Given the description of an element on the screen output the (x, y) to click on. 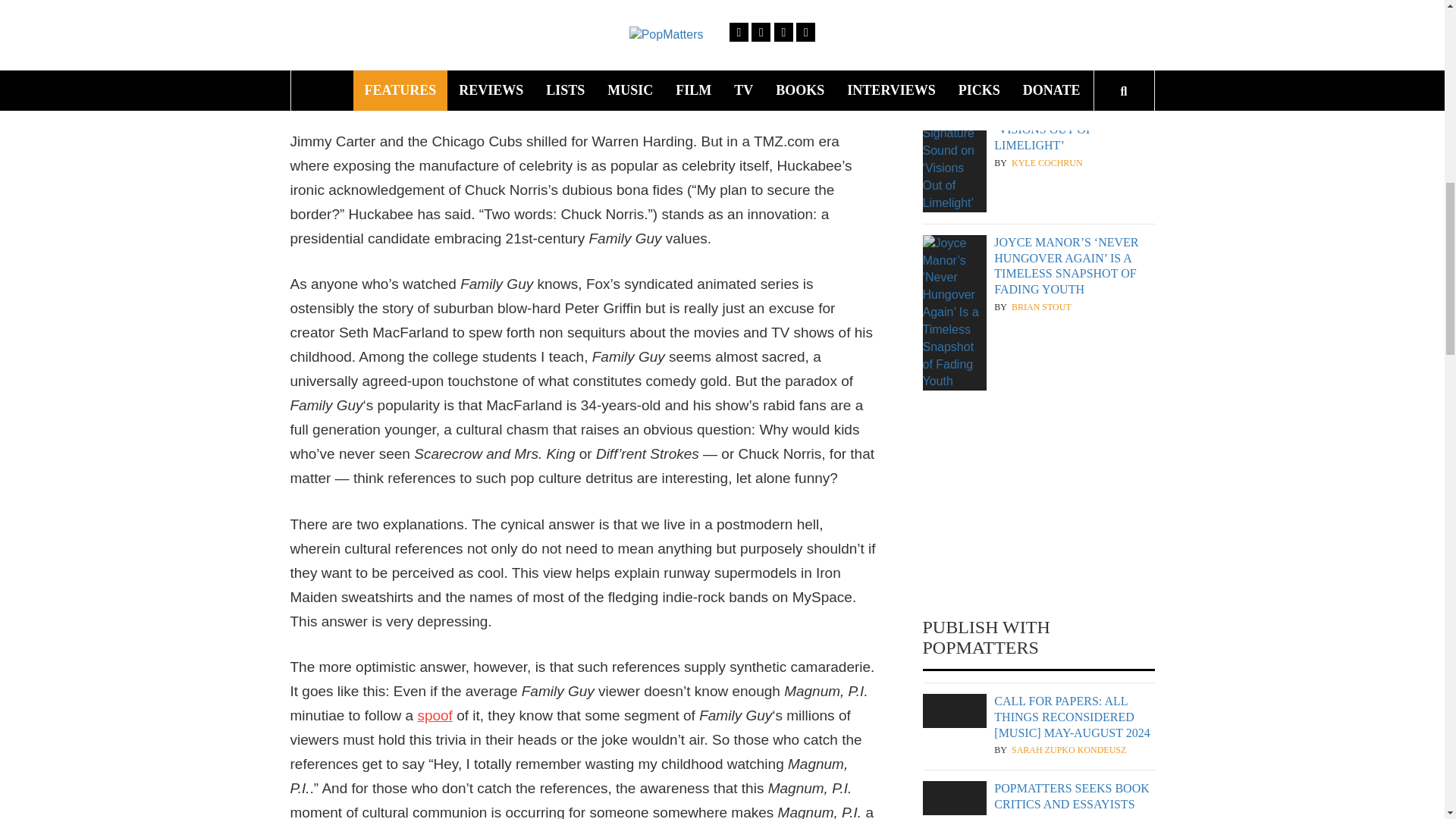
Michael Barrett (1053, 4)
Sarah Zupko Kondeusz (1068, 749)
Kyle Cochrun (1047, 163)
spoof (433, 715)
Karen Zarker (1046, 817)
Brian Stout (1041, 307)
